Given the description of an element on the screen output the (x, y) to click on. 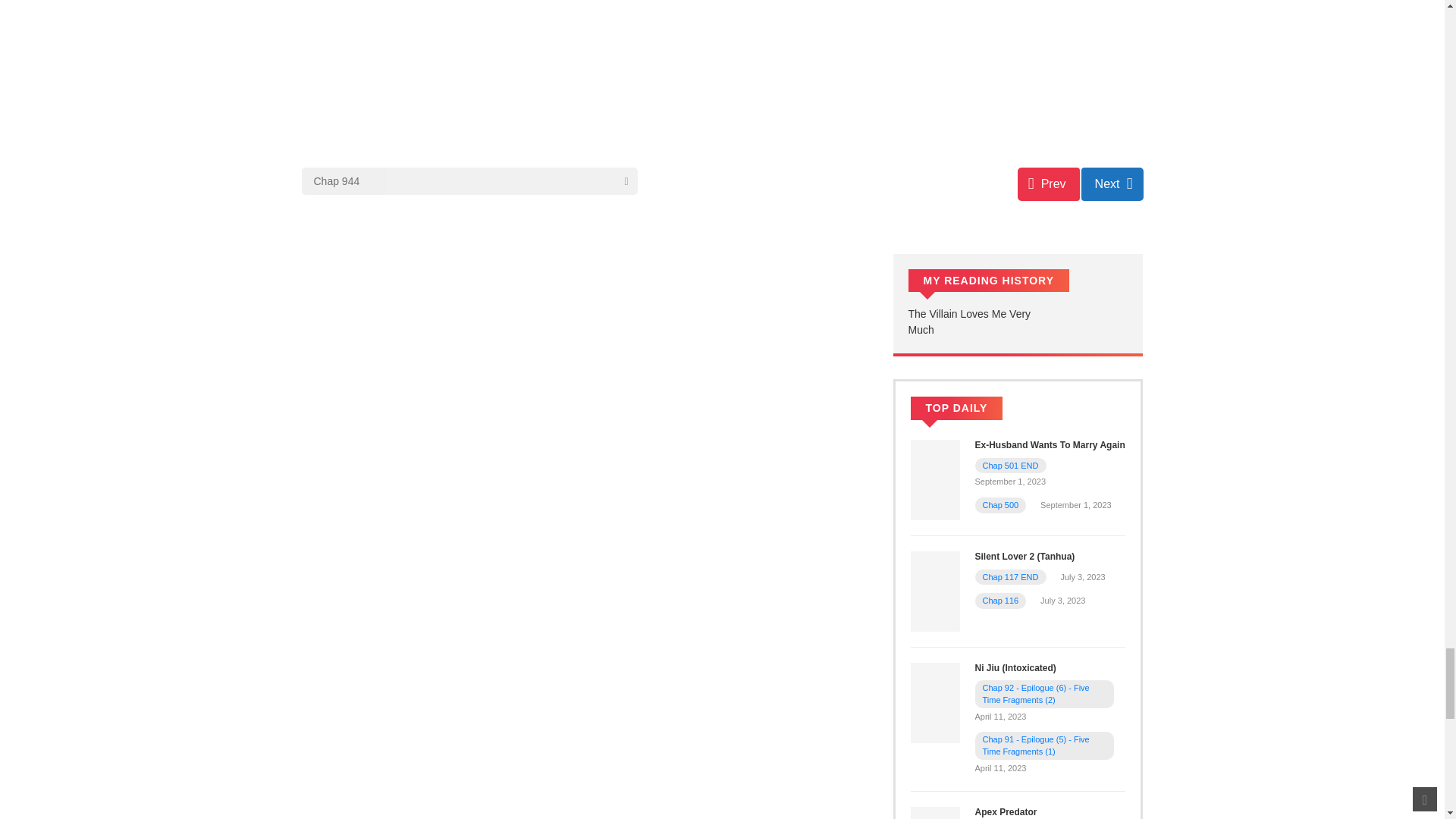
Chap 943 (1048, 183)
Ex-Husband Wants To Marry Again (1050, 444)
Chap 501 END (1010, 465)
Prev (1048, 183)
Chap 500 (1000, 504)
Chap 116 (1000, 600)
Ex-Husband Wants To Marry Again (1050, 444)
Chap 945 (1111, 183)
The Villain Loves Me Very Much (969, 321)
Ex-Husband Wants To Marry Again (934, 479)
